Given the description of an element on the screen output the (x, y) to click on. 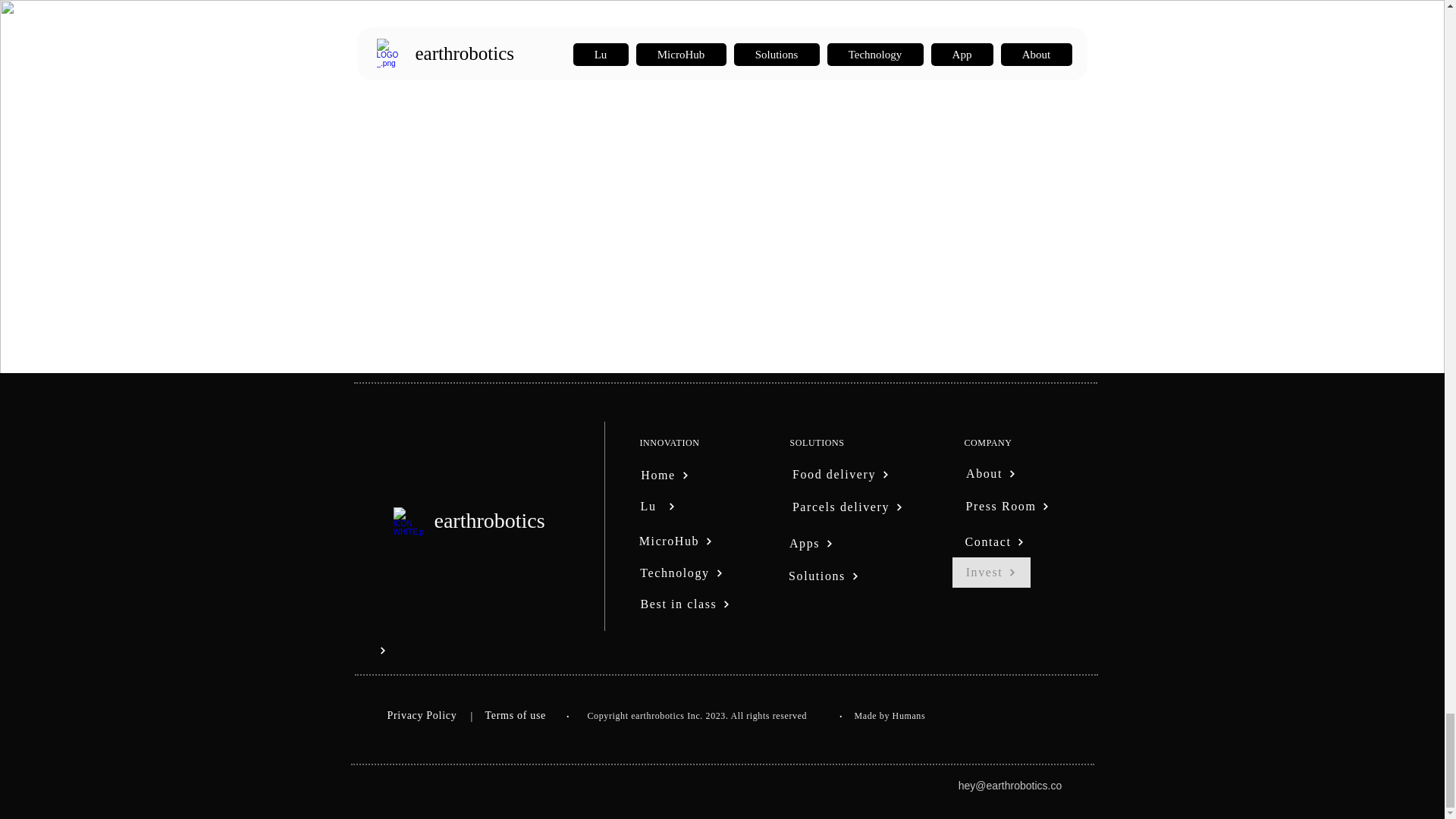
Privacy Policy (422, 715)
Contact (994, 542)
Technology (680, 572)
Best in class (685, 603)
MicroHub (675, 541)
Apps (812, 543)
Terms of use (515, 715)
Invest (991, 572)
earthrobotics (488, 520)
Food delivery (841, 474)
